Given the description of an element on the screen output the (x, y) to click on. 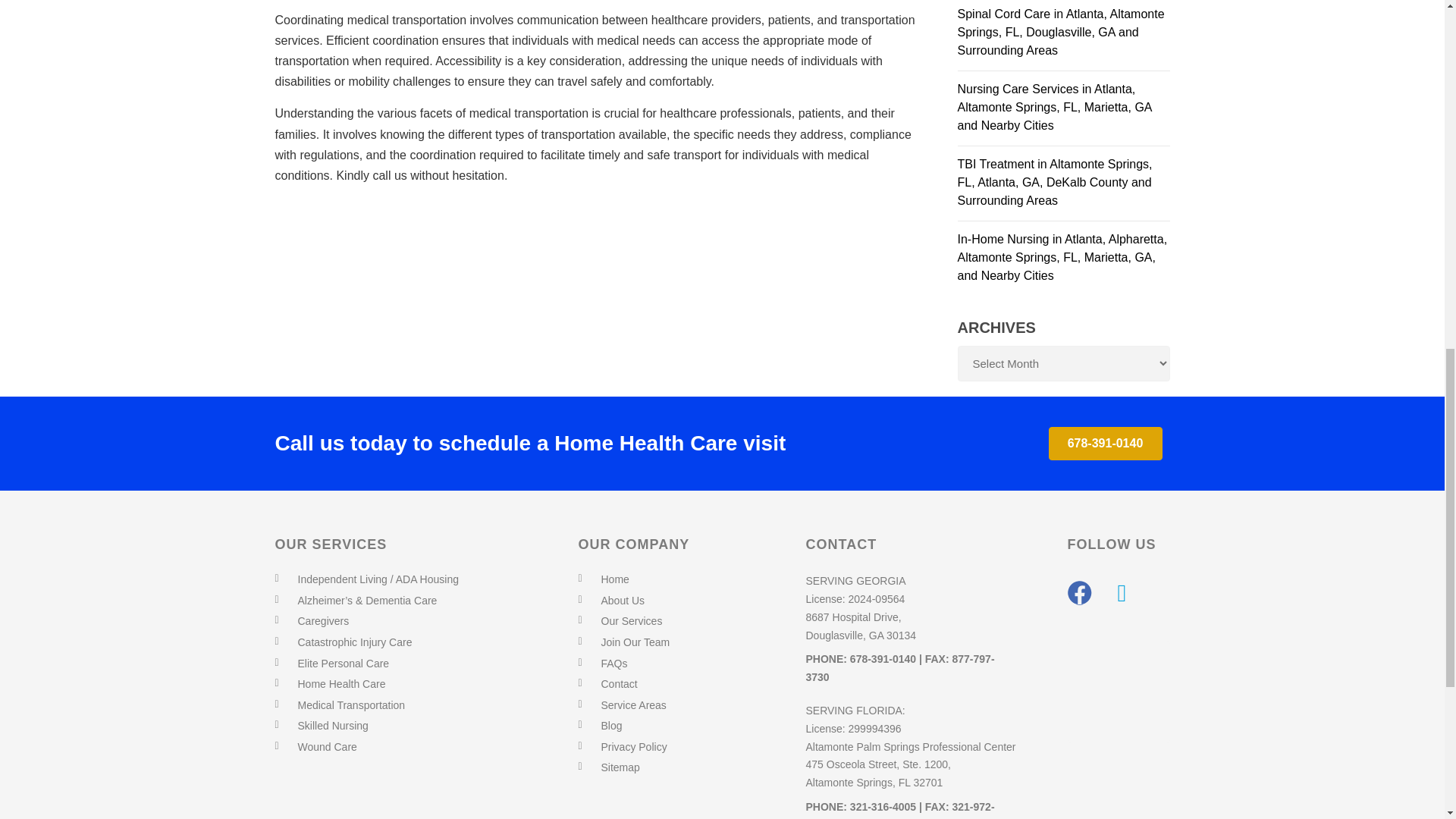
Our Services (630, 621)
FAQs (613, 663)
Wound Care (326, 746)
Skilled Nursing (332, 725)
Caregivers (323, 621)
Facebook (1079, 592)
Catastrophic Injury Care (354, 642)
